Given the description of an element on the screen output the (x, y) to click on. 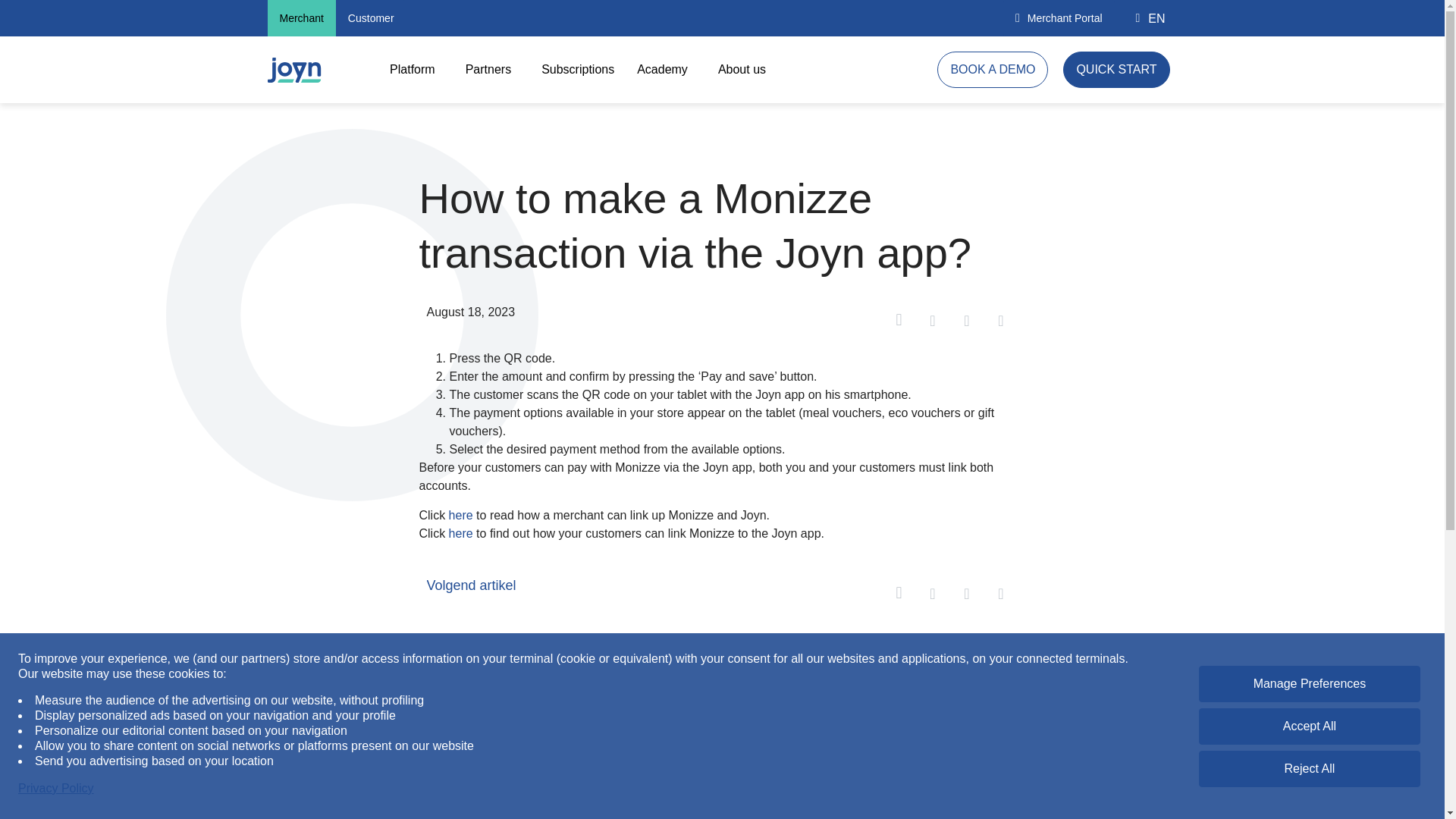
Subscriptions (577, 69)
Privacy Policy (55, 788)
Accept All (1309, 726)
Merchant (300, 18)
Partners (491, 69)
Customer (371, 18)
About us (745, 69)
Manage Preferences (1309, 683)
Reject All (1309, 769)
Merchant Portal (1059, 18)
